Given the description of an element on the screen output the (x, y) to click on. 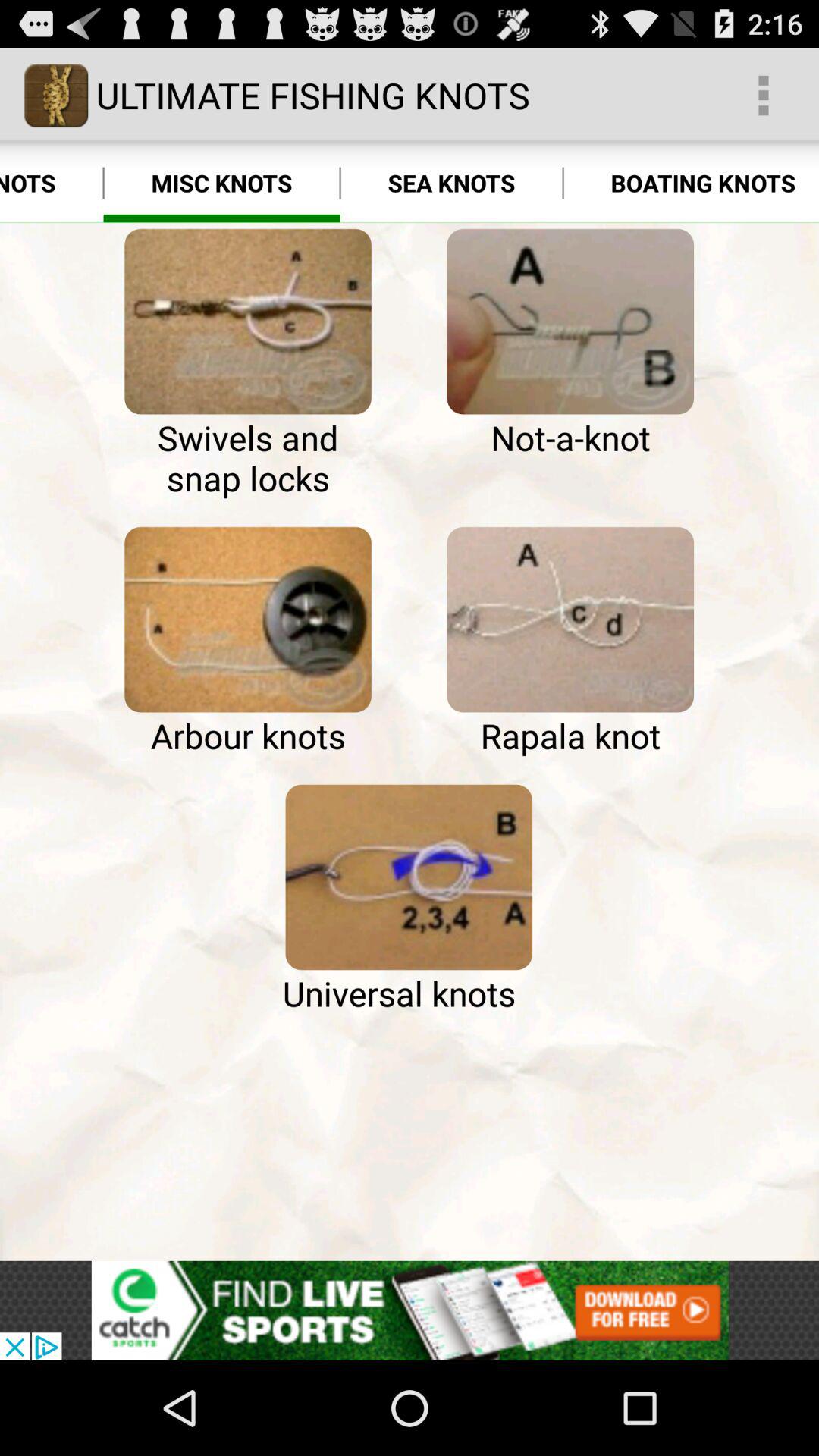
tap item below swivels and snap item (247, 619)
